Given the description of an element on the screen output the (x, y) to click on. 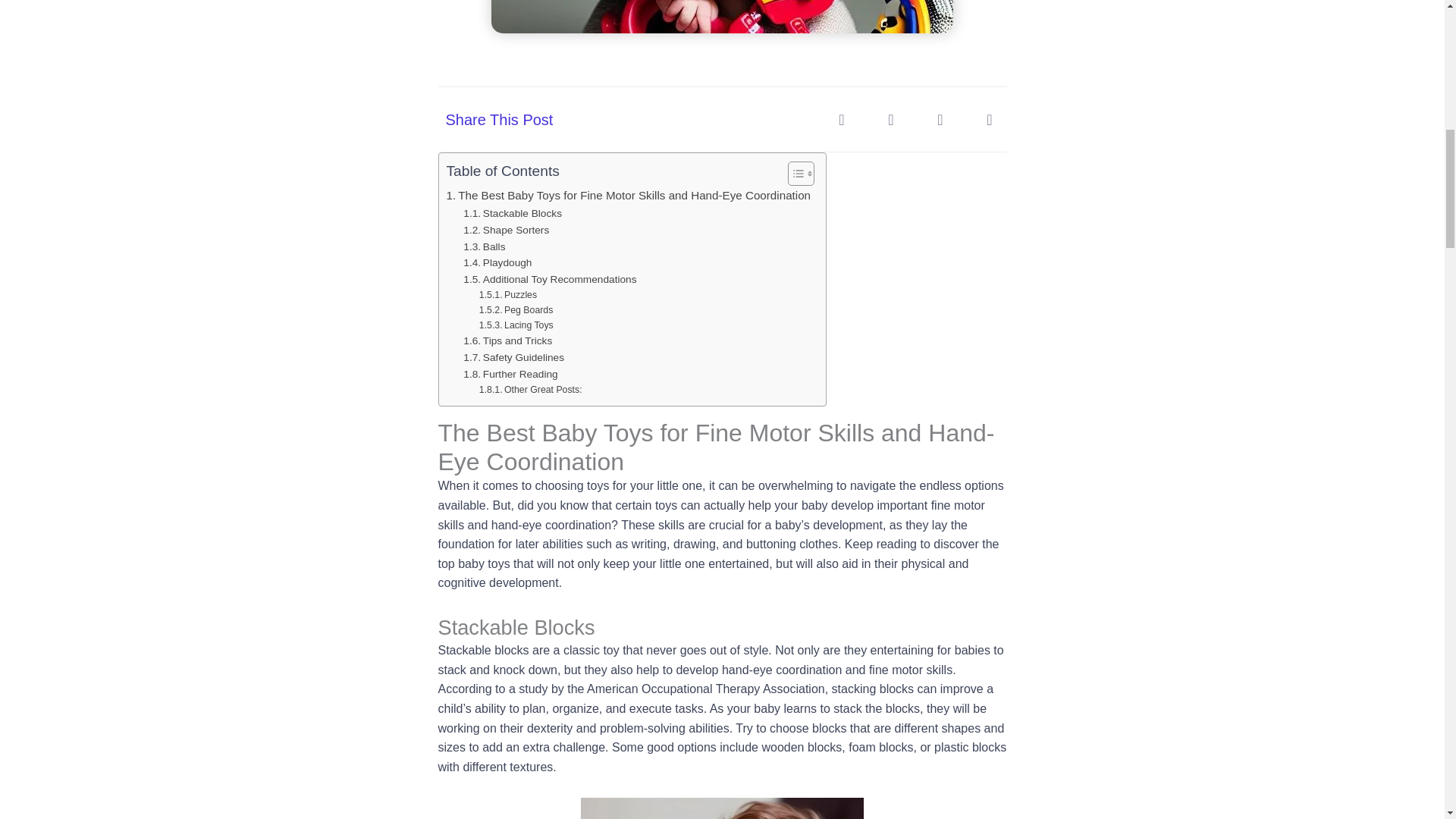
Shape Sorters (505, 230)
Safety Guidelines (513, 357)
Balls (484, 246)
Additional Toy Recommendations (549, 279)
Peg Boards (516, 310)
Other Great Posts: (530, 390)
Further Reading (510, 374)
Shape Sorters (505, 230)
Lacing Toys (516, 325)
Playdough (497, 262)
Puzzles (508, 295)
Stackable Blocks (512, 213)
Balls (484, 246)
Tips and Tricks (507, 340)
